Given the description of an element on the screen output the (x, y) to click on. 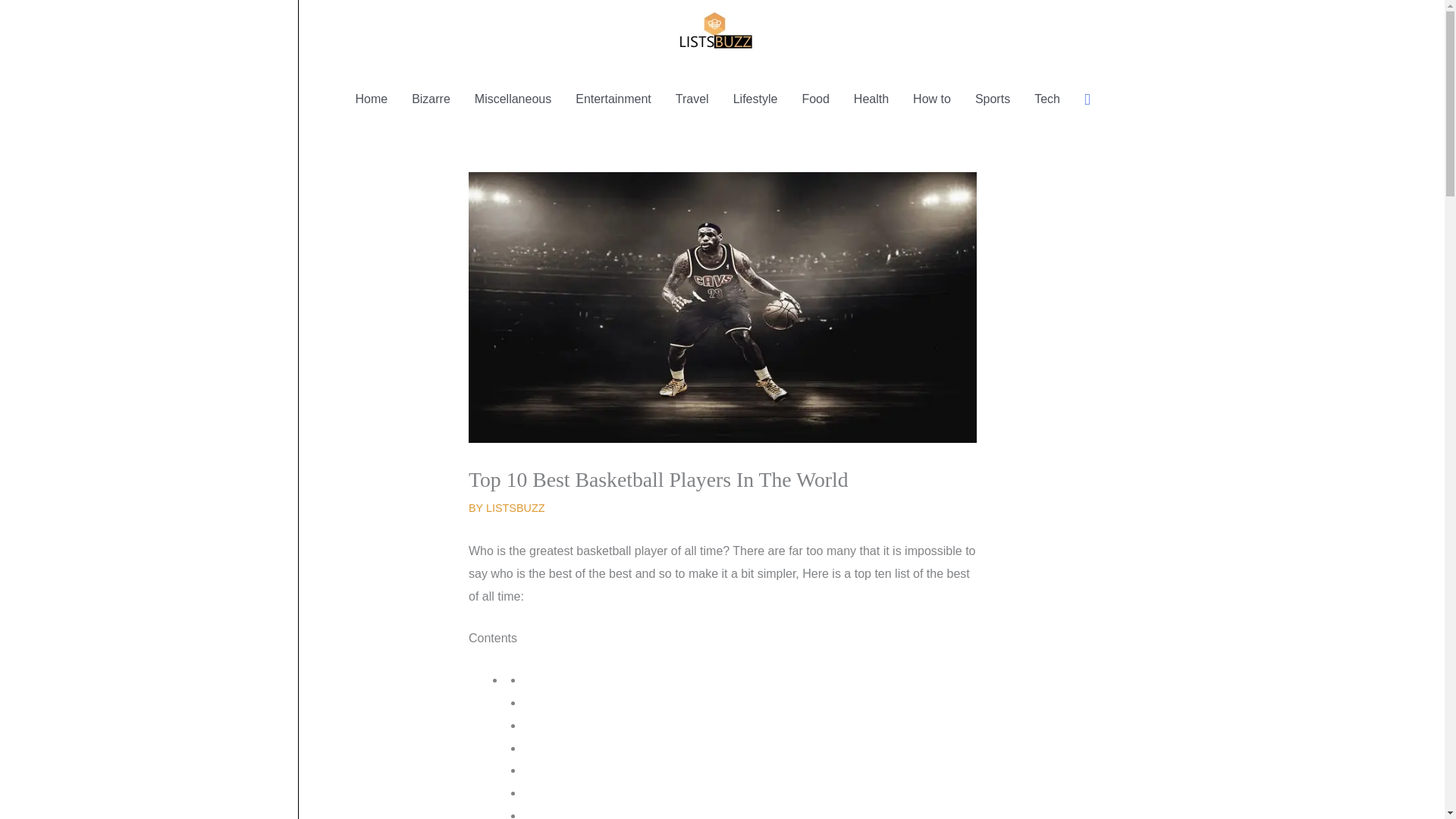
Travel (691, 99)
Sports (992, 99)
Tech (1046, 99)
Food (815, 99)
How to (931, 99)
Entertainment (613, 99)
LISTSBUZZ (515, 508)
Lifestyle (755, 99)
View all posts by ListsBuzz (515, 508)
Health (871, 99)
